Given the description of an element on the screen output the (x, y) to click on. 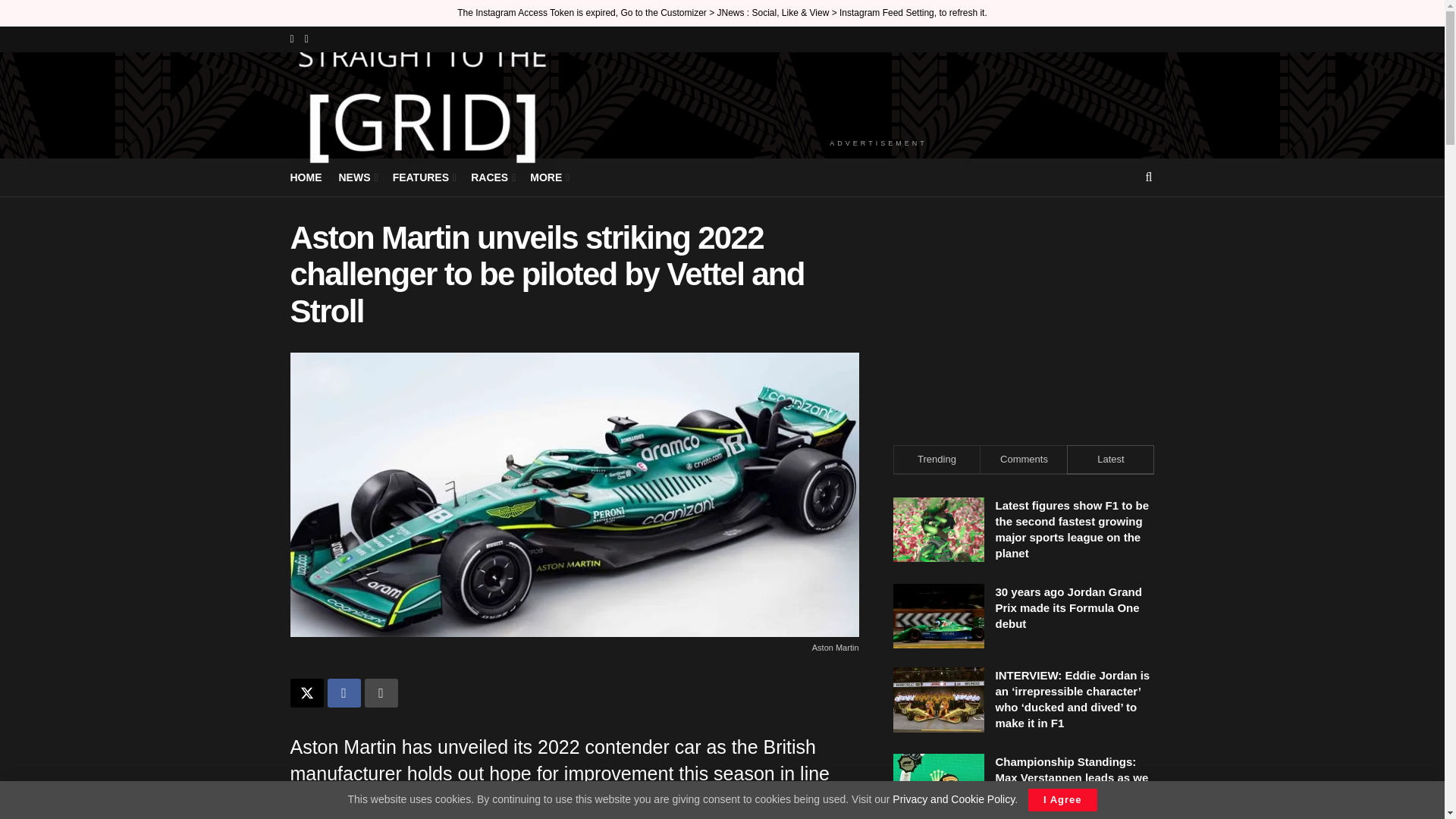
Advertisement (1023, 314)
NEWS (356, 177)
Advertisement (878, 92)
FEATURES (423, 177)
HOME (305, 177)
